Given the description of an element on the screen output the (x, y) to click on. 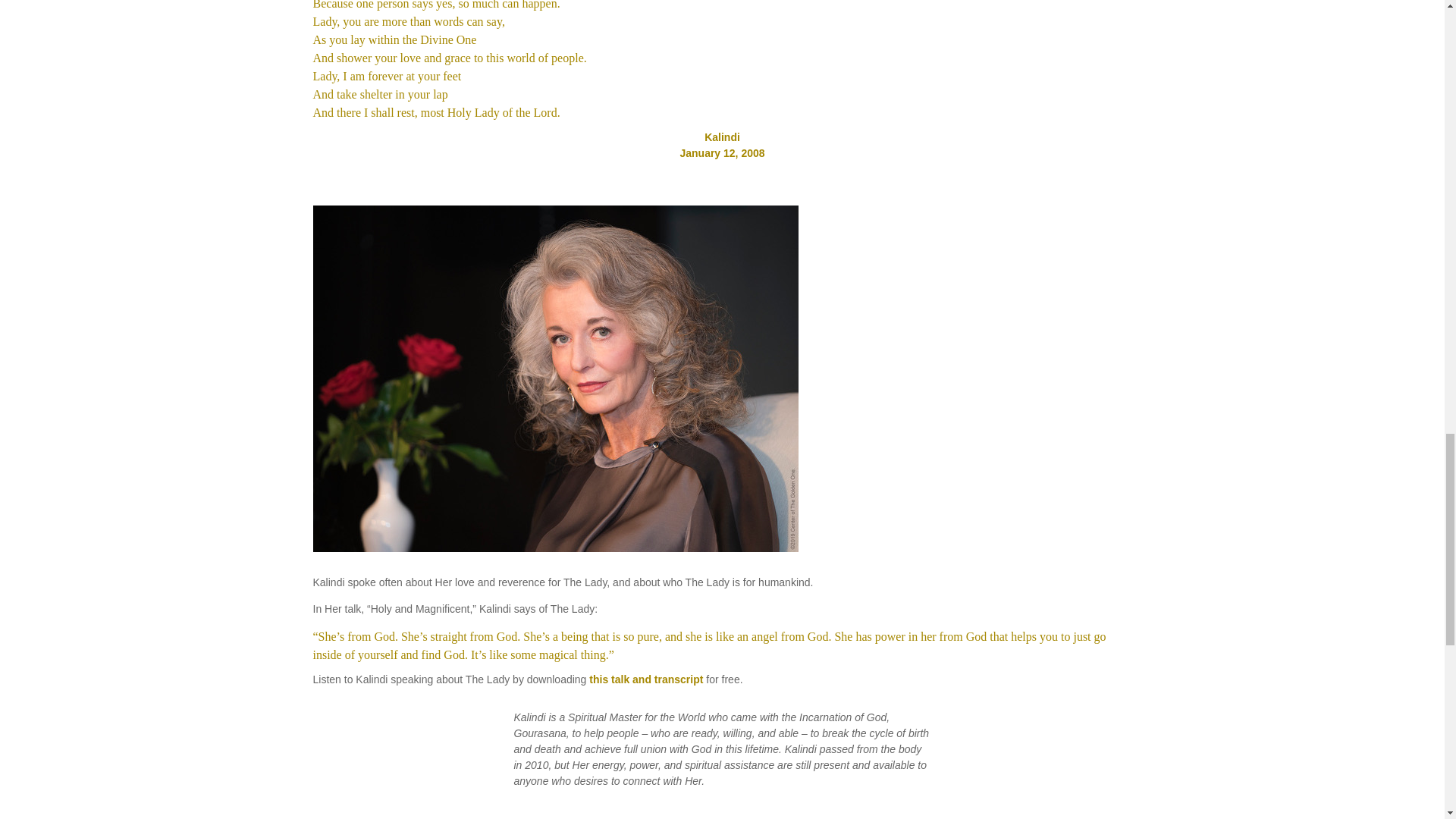
this talk and transcript (646, 679)
